Given the description of an element on the screen output the (x, y) to click on. 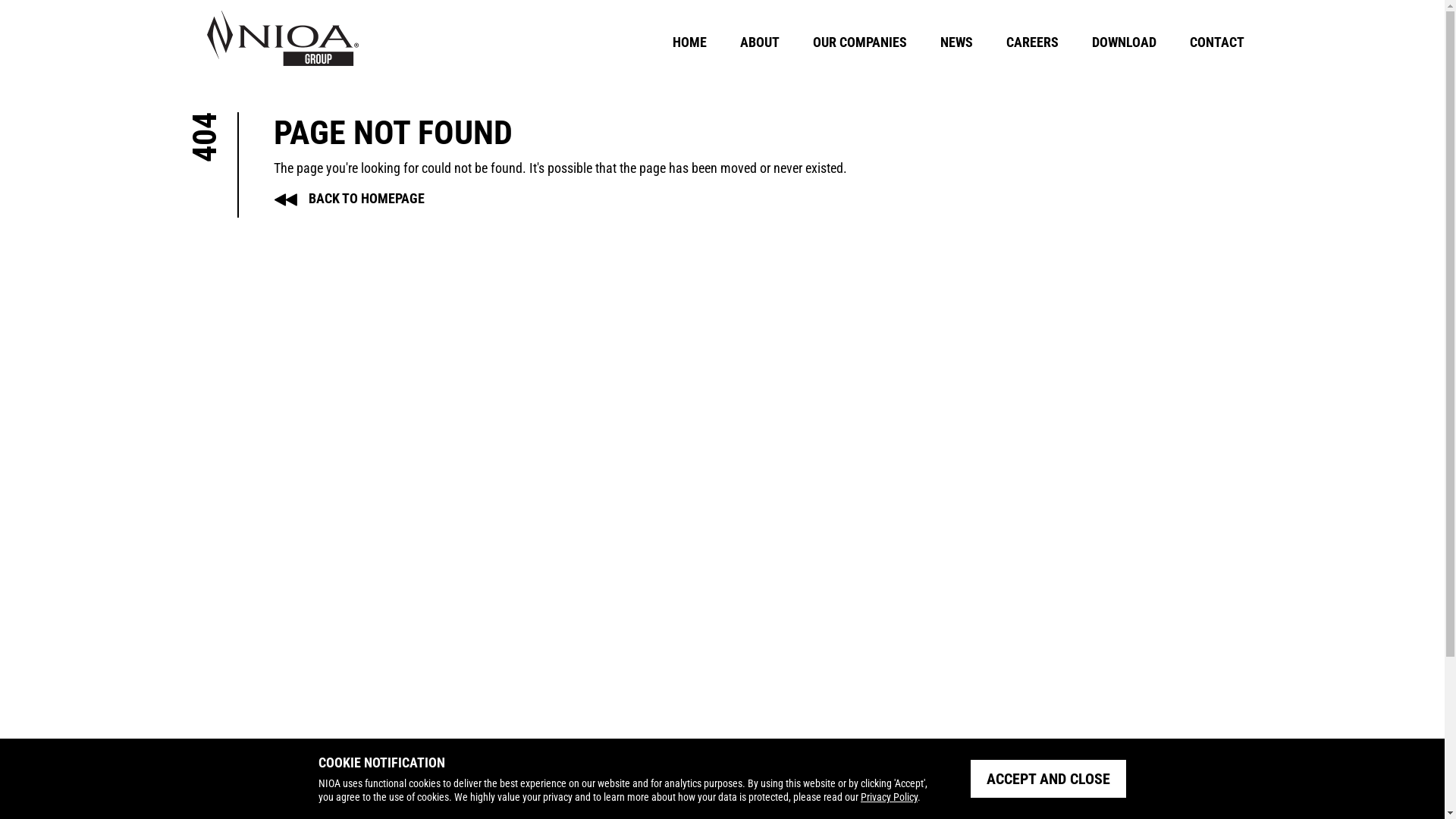
BACK TO HOMEPAGE Element type: text (348, 198)
OUR COMPANIES Element type: text (859, 41)
CAREERS Element type: text (1031, 41)
NEWS Element type: text (956, 41)
ABOUT Element type: text (759, 41)
CONTACT Element type: text (1215, 41)
DOWNLOAD Element type: text (1123, 41)
ACCEPT AND CLOSE Element type: text (1048, 778)
Privacy Policy Element type: text (888, 796)
HOME Element type: text (688, 41)
